Given the description of an element on the screen output the (x, y) to click on. 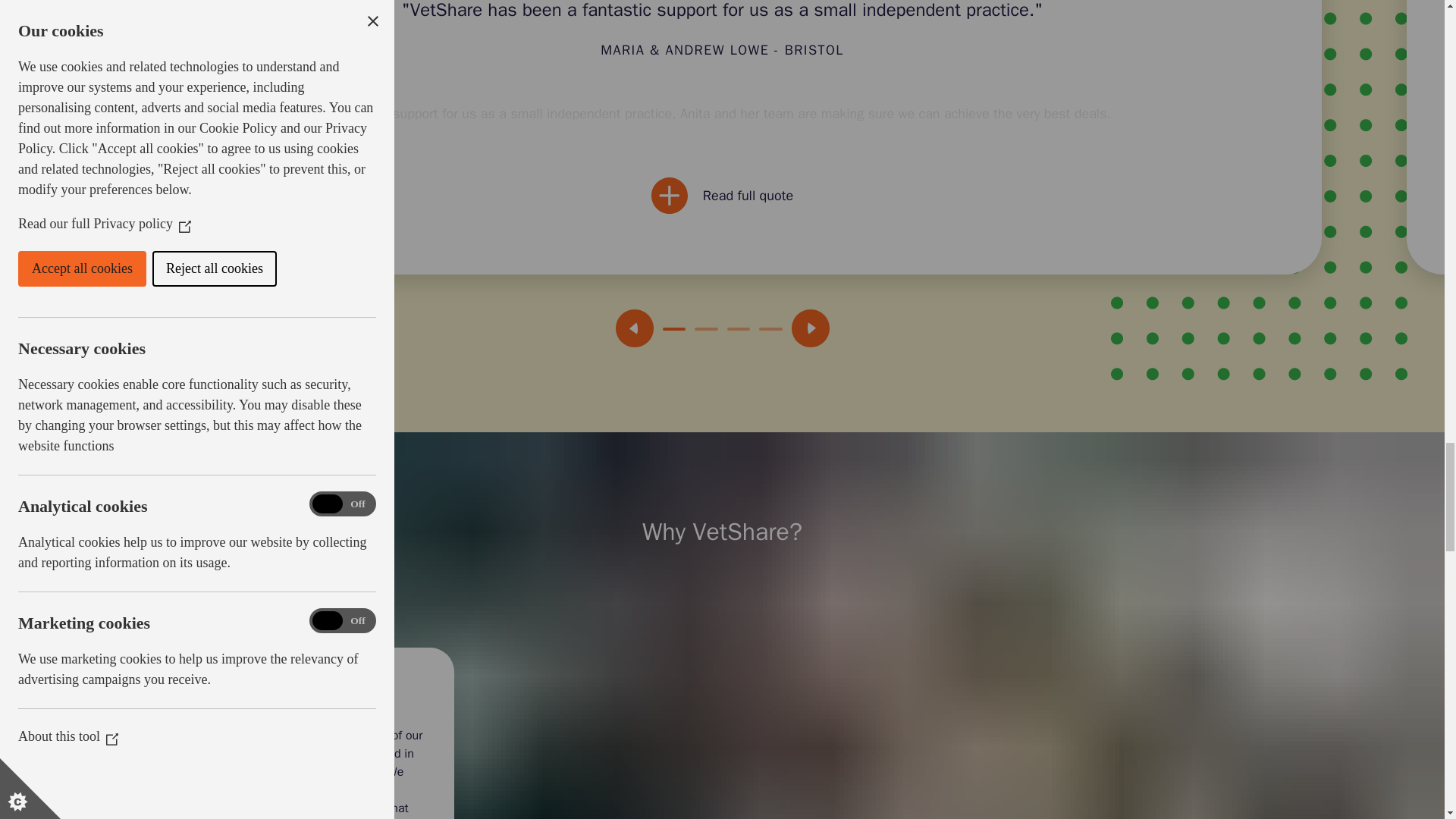
4 (770, 328)
Read full quote (722, 195)
3 (737, 328)
2 (705, 328)
1 (673, 328)
